Given the description of an element on the screen output the (x, y) to click on. 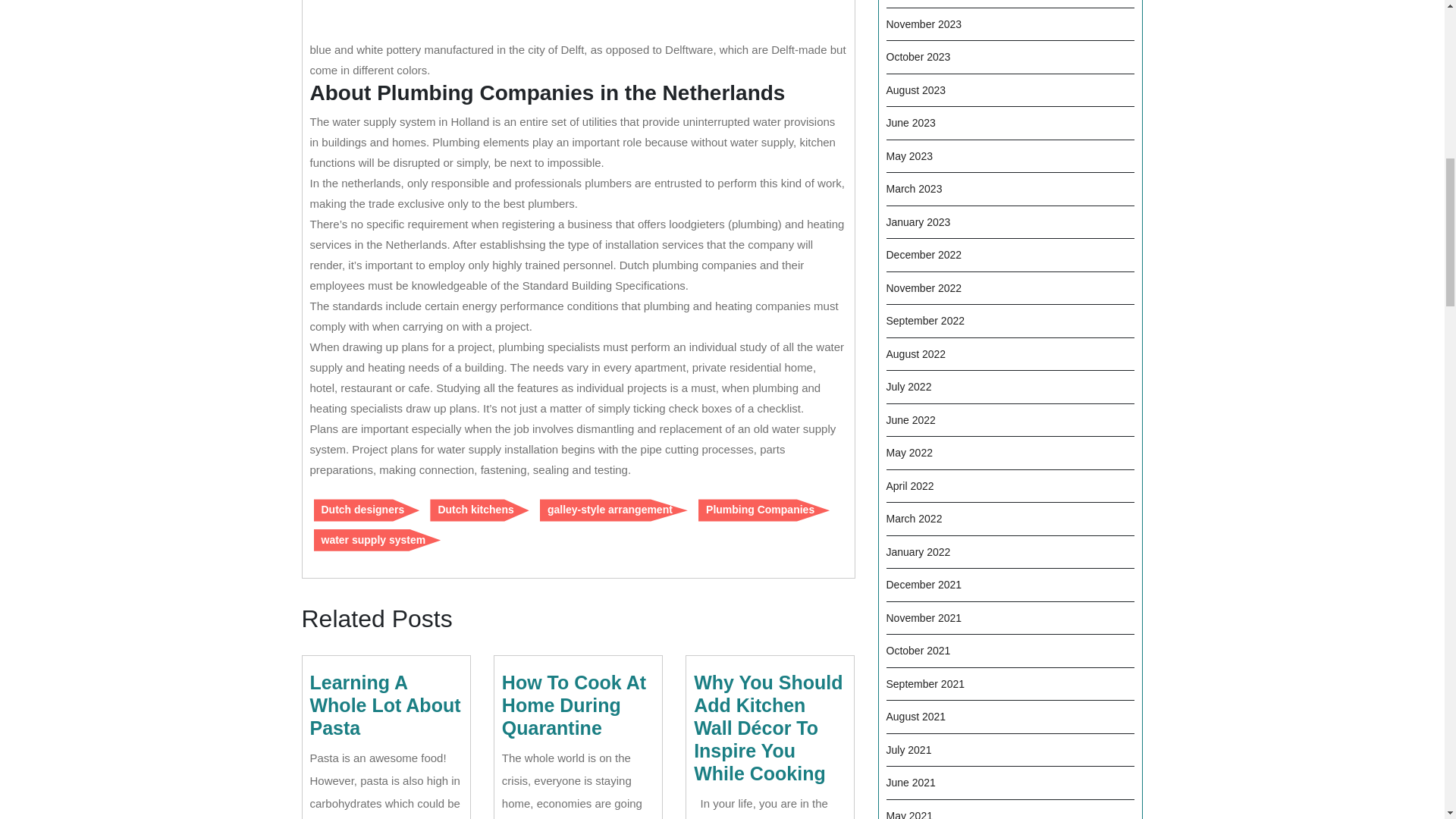
How to Cook at Home During Quarantine (574, 704)
Plumbing Companies (763, 509)
water supply system (377, 540)
Learning a Whole Lot about Pasta (384, 704)
Dutch designers (367, 509)
galley-style arrangement (613, 509)
Dutch kitchens (478, 509)
